Given the description of an element on the screen output the (x, y) to click on. 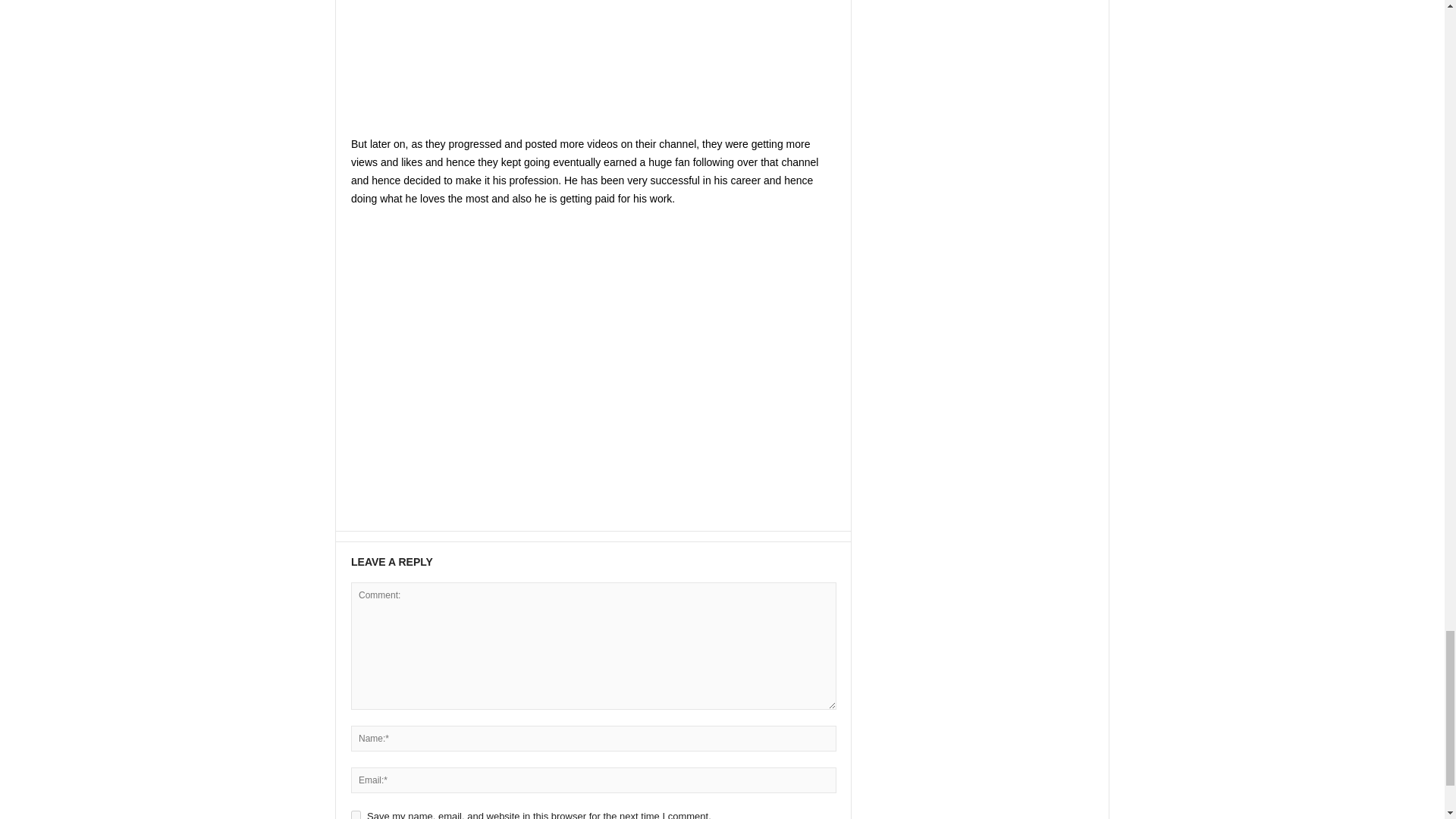
yes (355, 814)
